Given the description of an element on the screen output the (x, y) to click on. 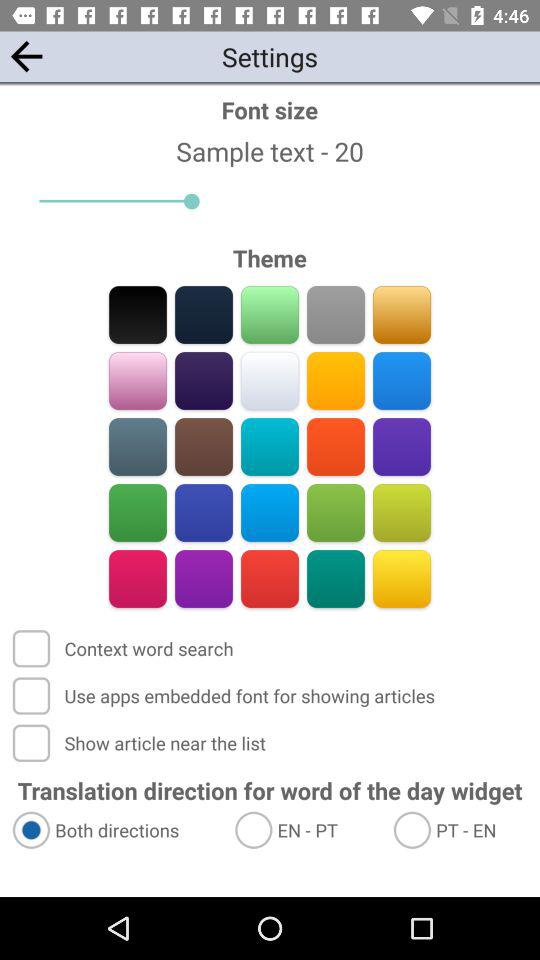
scroll to the use apps embedded checkbox (225, 695)
